Given the description of an element on the screen output the (x, y) to click on. 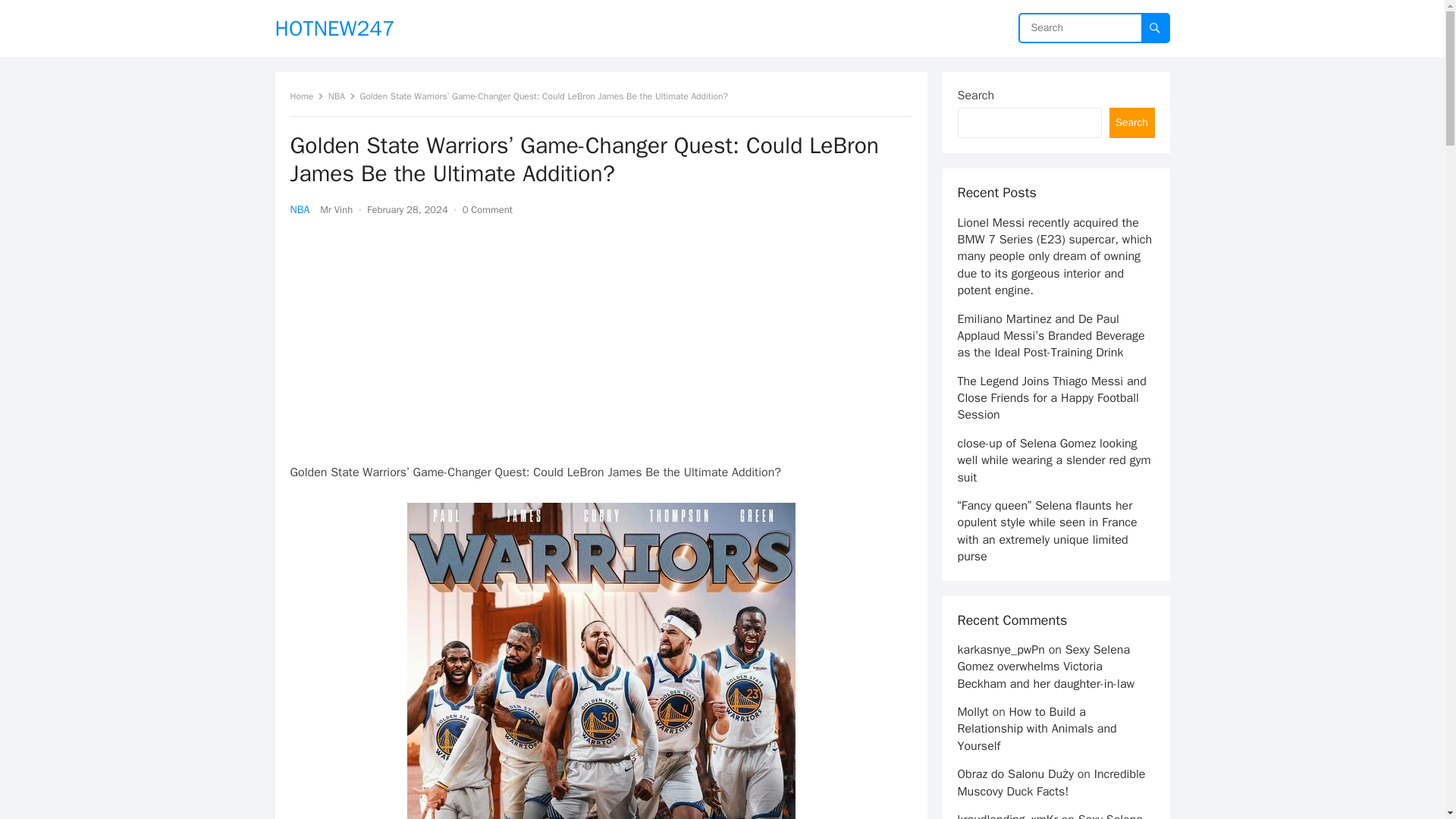
NBA (298, 209)
Home (306, 96)
0 Comment (487, 209)
NBA (342, 96)
Mr Vinh (336, 209)
HOTNEW247 (334, 28)
Posts by Mr Vinh (336, 209)
